Given the description of an element on the screen output the (x, y) to click on. 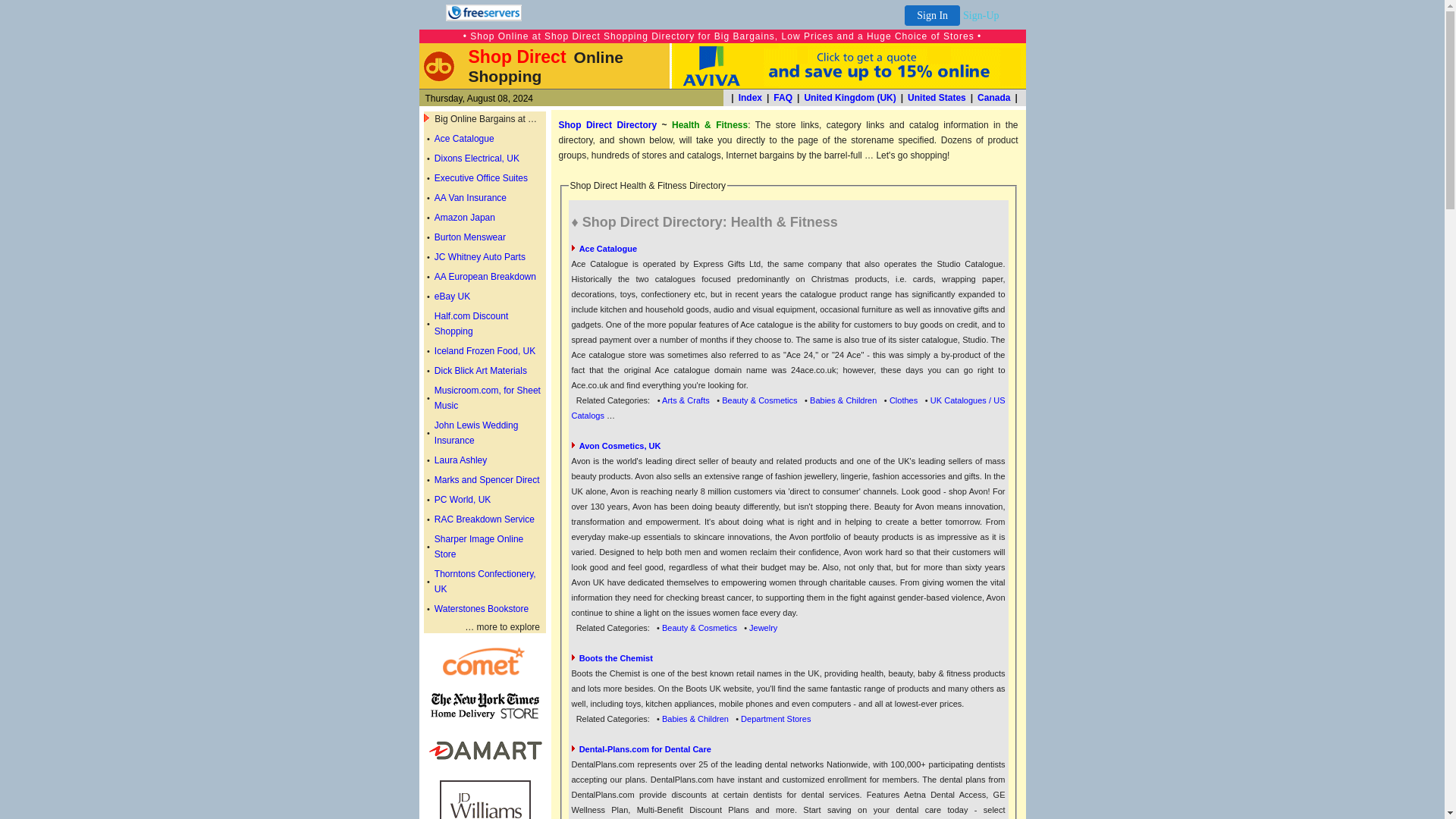
Canada (993, 97)
Comet Electronics (484, 672)
Burton Menswear (469, 236)
Dick Blick Art Materials (480, 370)
eBay UK (451, 296)
Sign In (931, 14)
Laura Ashley (459, 460)
Marks and Spencer Direct (486, 480)
Dixons Electrical, UK (476, 158)
Damart (484, 760)
Iceland Frozen Food, UK (484, 350)
Musicroom.com, for Sheet Music (486, 397)
RAC Breakdown Service (483, 519)
Half.com Discount Shopping (470, 323)
FAQ (782, 97)
